Given the description of an element on the screen output the (x, y) to click on. 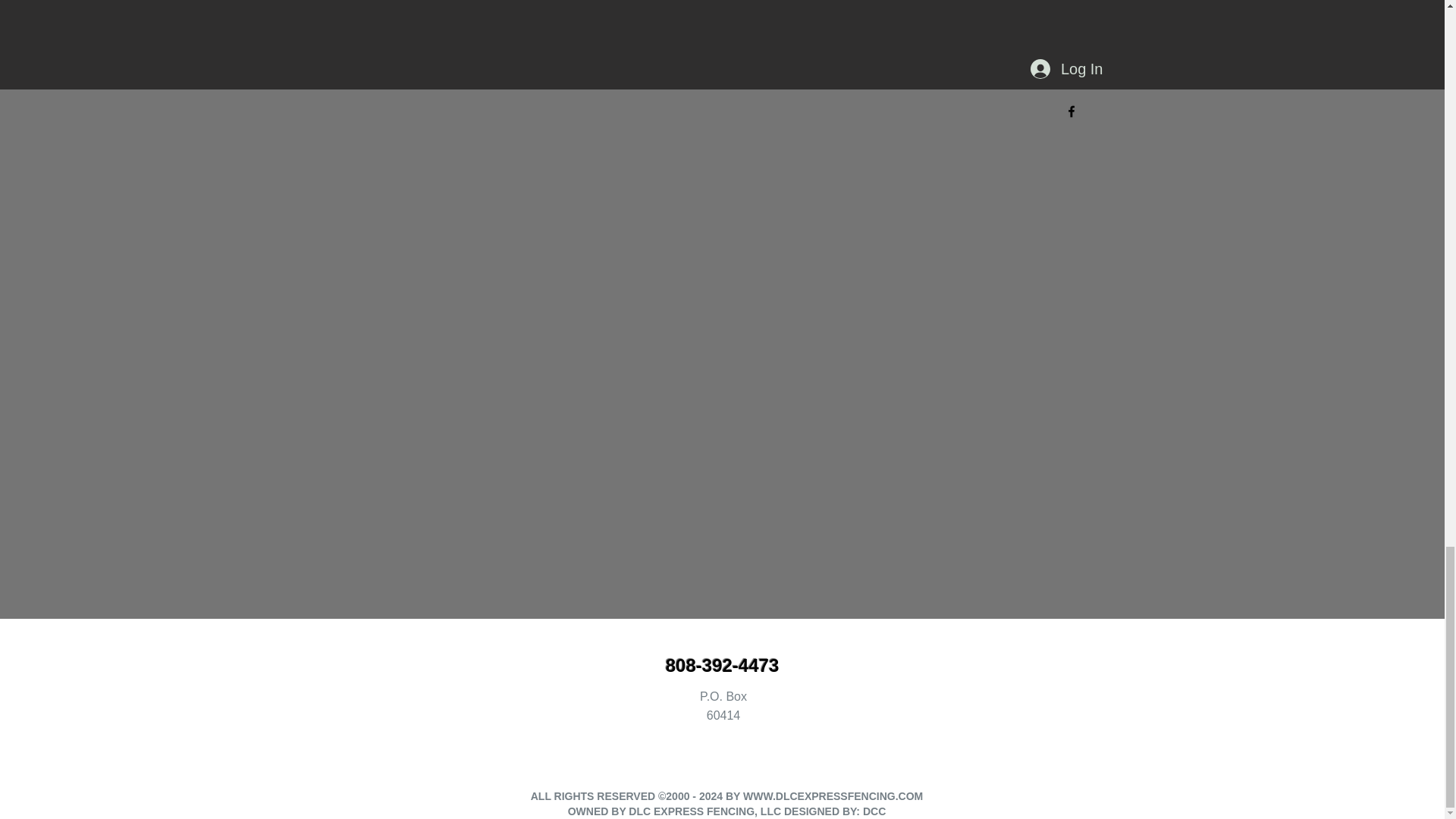
WWW.DLCEXPRESSFENCING.COM (832, 796)
